Given the description of an element on the screen output the (x, y) to click on. 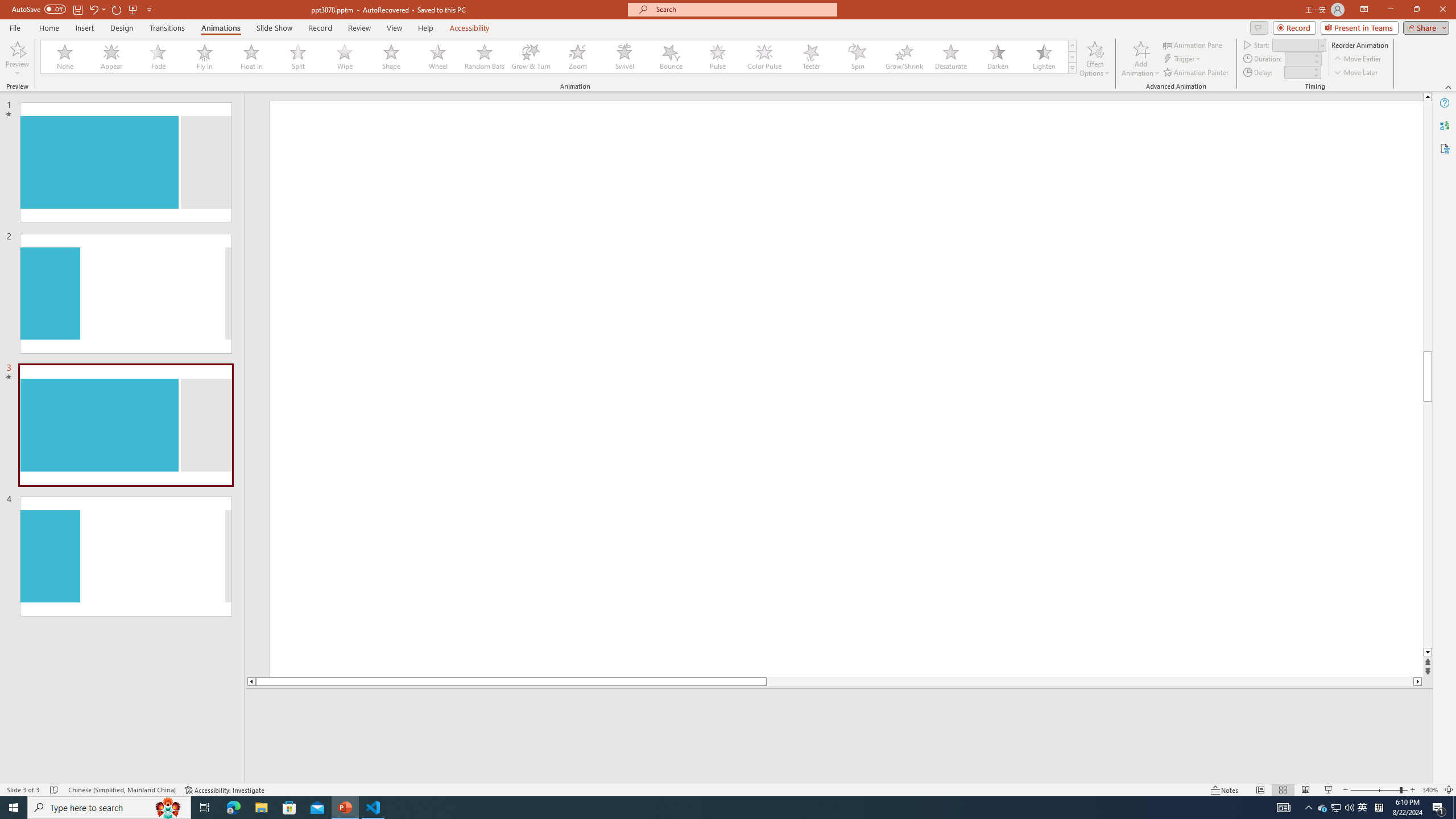
Spin (857, 56)
Trigger (1182, 58)
Add Animation (1141, 58)
More (1315, 69)
Fly In (205, 56)
